Given the description of an element on the screen output the (x, y) to click on. 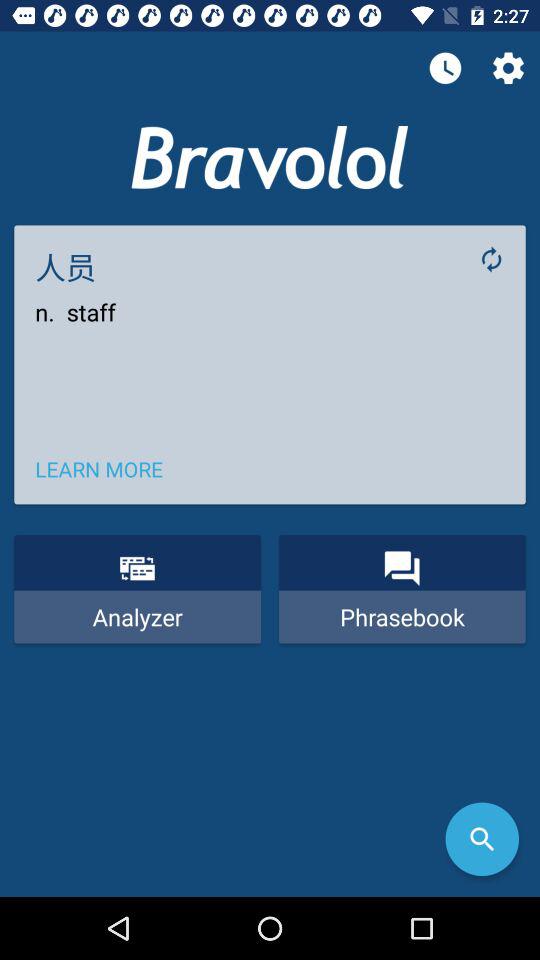
open the icon at the bottom right corner (482, 839)
